Given the description of an element on the screen output the (x, y) to click on. 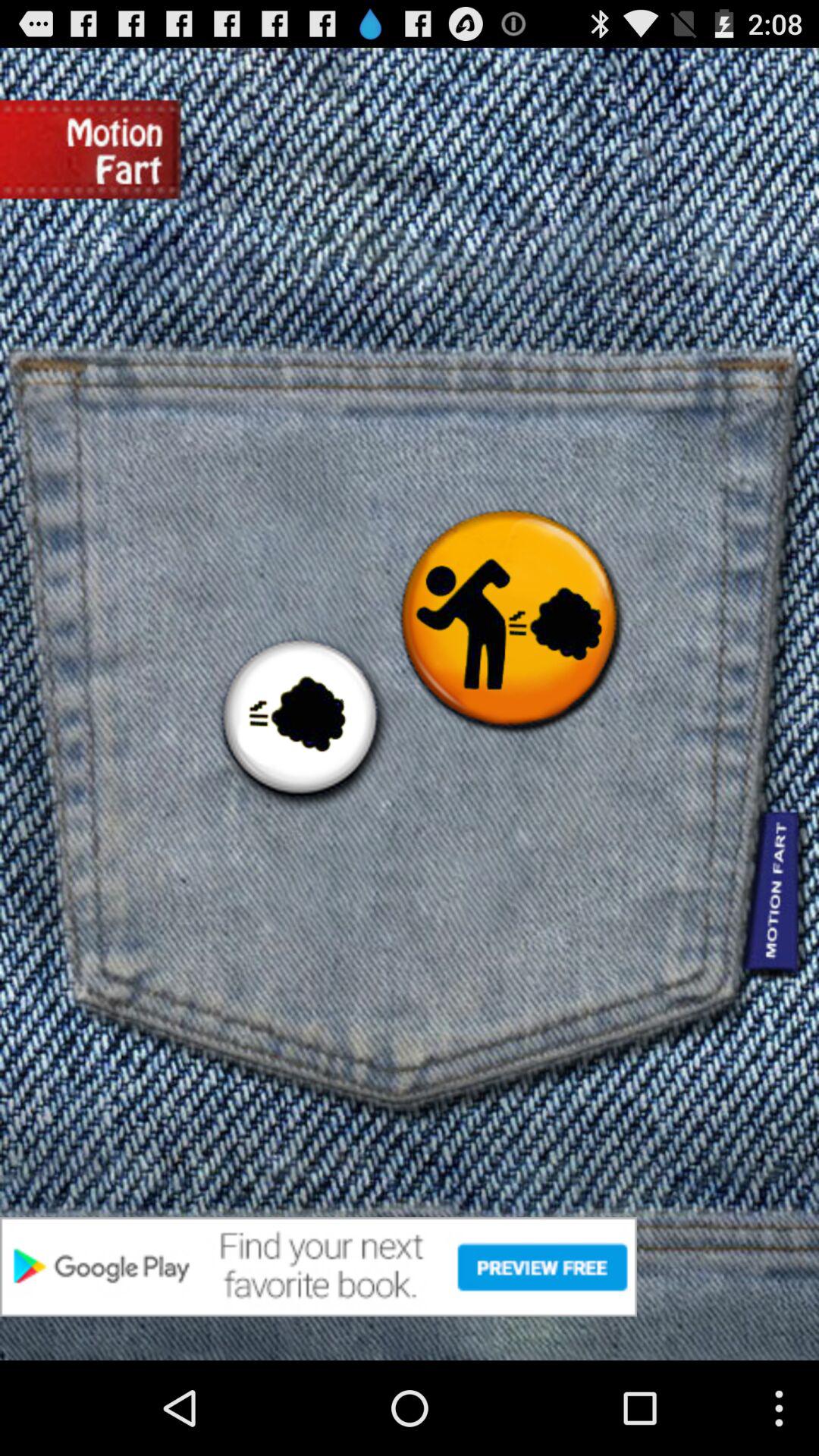
play sound 1 (299, 719)
